Given the description of an element on the screen output the (x, y) to click on. 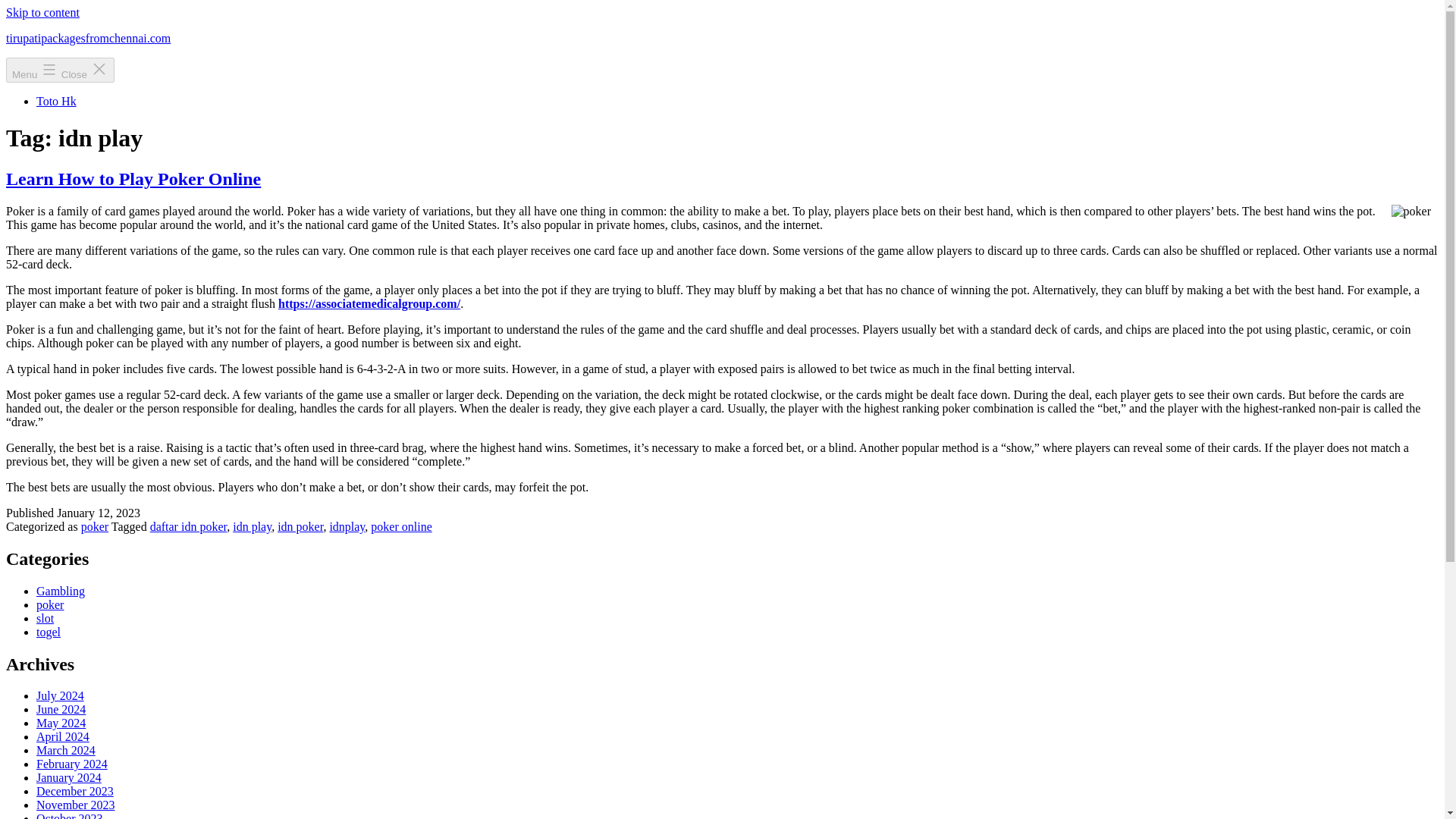
July 2024 (60, 695)
Gambling (60, 590)
Toto Hk (56, 101)
togel (48, 631)
February 2024 (71, 763)
October 2023 (69, 815)
December 2023 (74, 790)
poker online (400, 526)
Skip to content (42, 11)
April 2024 (62, 736)
Menu Close (60, 69)
poker (50, 604)
November 2023 (75, 804)
January 2024 (68, 777)
tirupatipackagesfromchennai.com (87, 38)
